Given the description of an element on the screen output the (x, y) to click on. 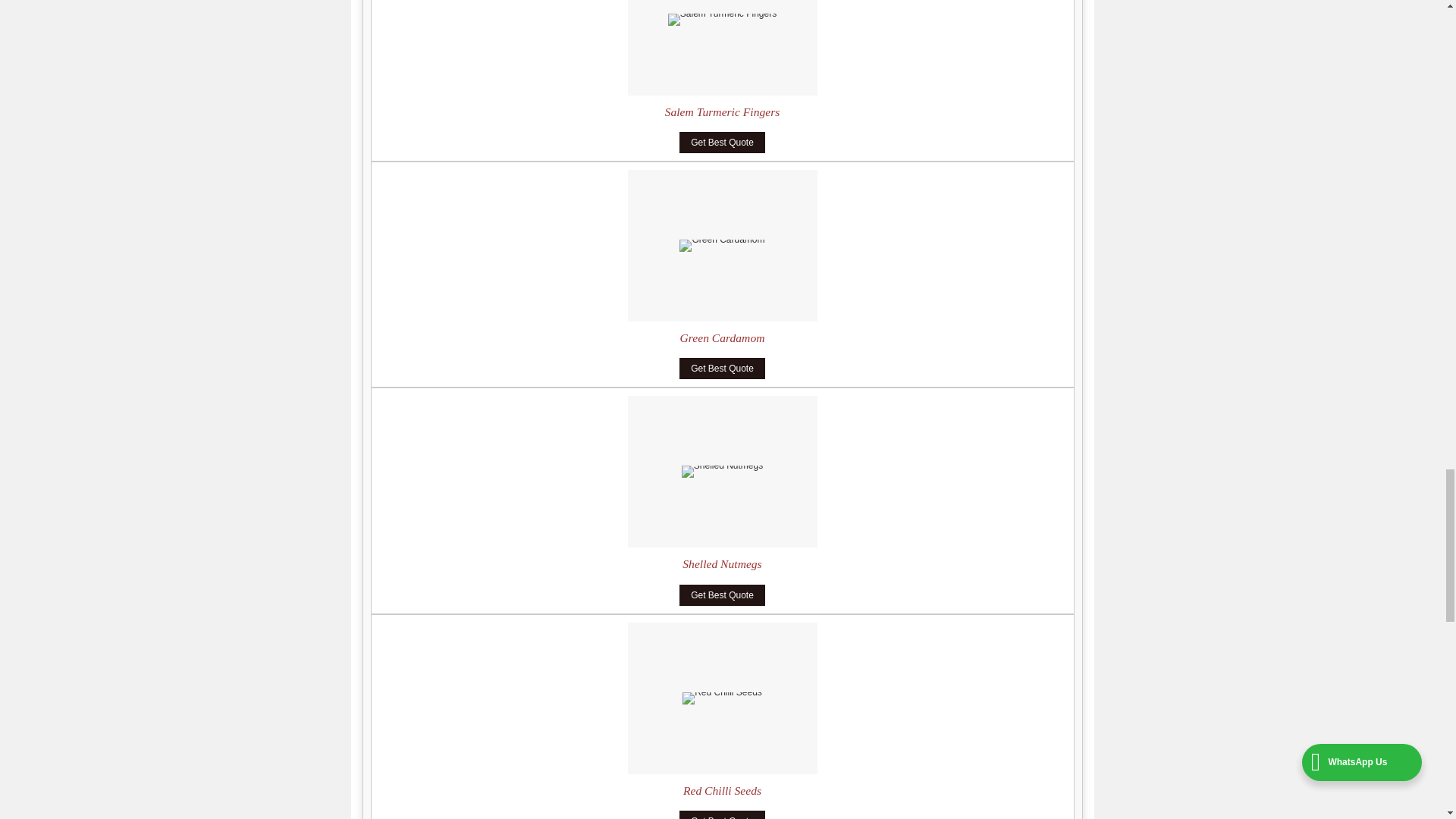
Get Best Quote (722, 368)
Salem Turmeric Fingers (722, 111)
Green Cardamom (722, 337)
Get Best Quote (722, 142)
